Given the description of an element on the screen output the (x, y) to click on. 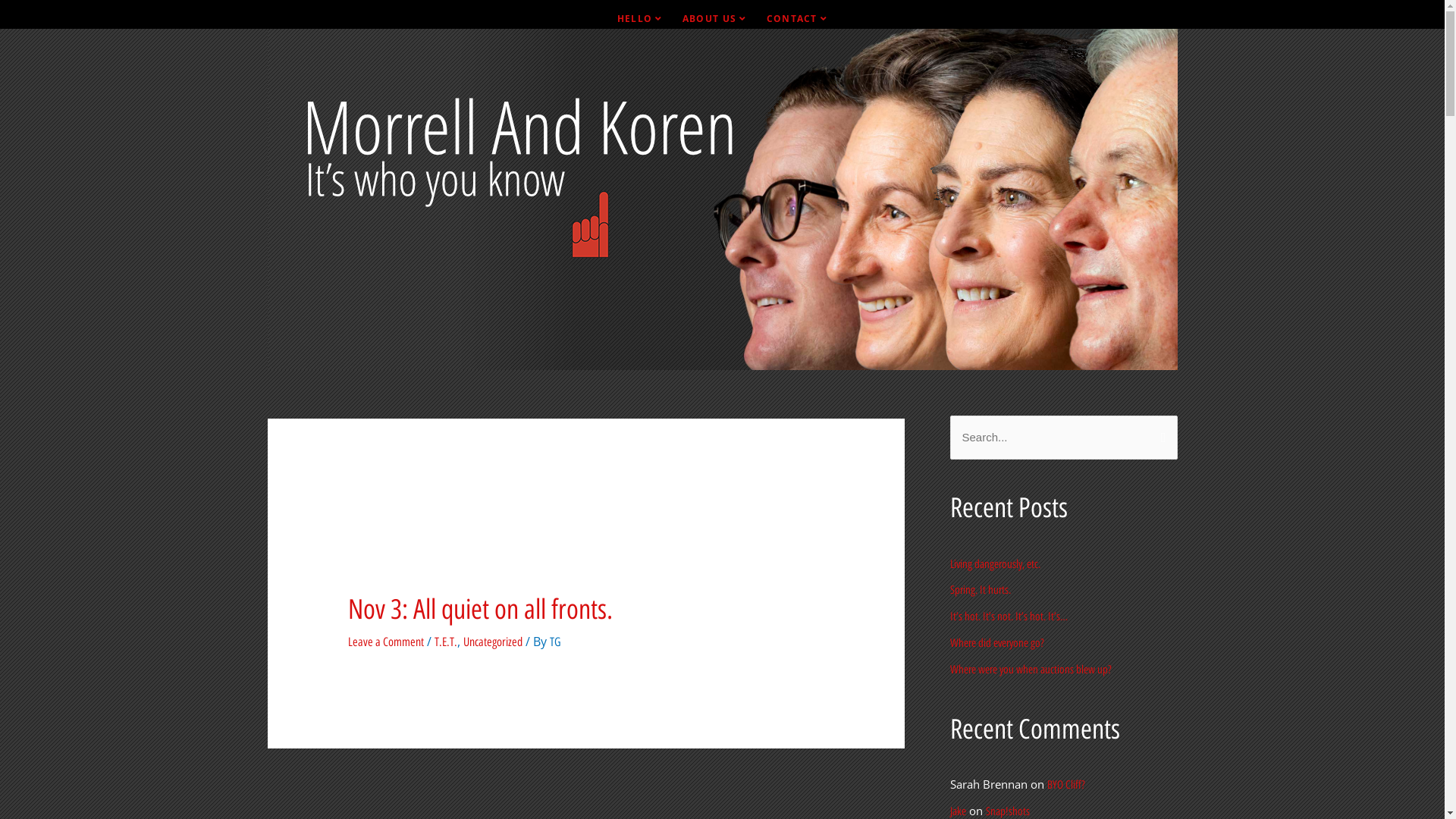
Leave a Comment Element type: text (385, 641)
Uncategorized Element type: text (492, 641)
Jake Element type: text (957, 811)
Living dangerously, etc. Element type: text (994, 564)
Where were you when auctions blew up? Element type: text (1029, 669)
Search Element type: text (1160, 430)
Spring. It hurts. Element type: text (979, 589)
HELLO Element type: text (639, 18)
Snap!shots Element type: text (1007, 811)
ABOUT US Element type: text (714, 18)
CONTACT Element type: text (796, 18)
BYO Cliff? Element type: text (1065, 784)
Nov 3: All quiet on all fronts. Element type: text (480, 609)
Where did everyone go? Element type: text (996, 642)
T.E.T. Element type: text (445, 641)
TG Element type: text (555, 641)
